Given the description of an element on the screen output the (x, y) to click on. 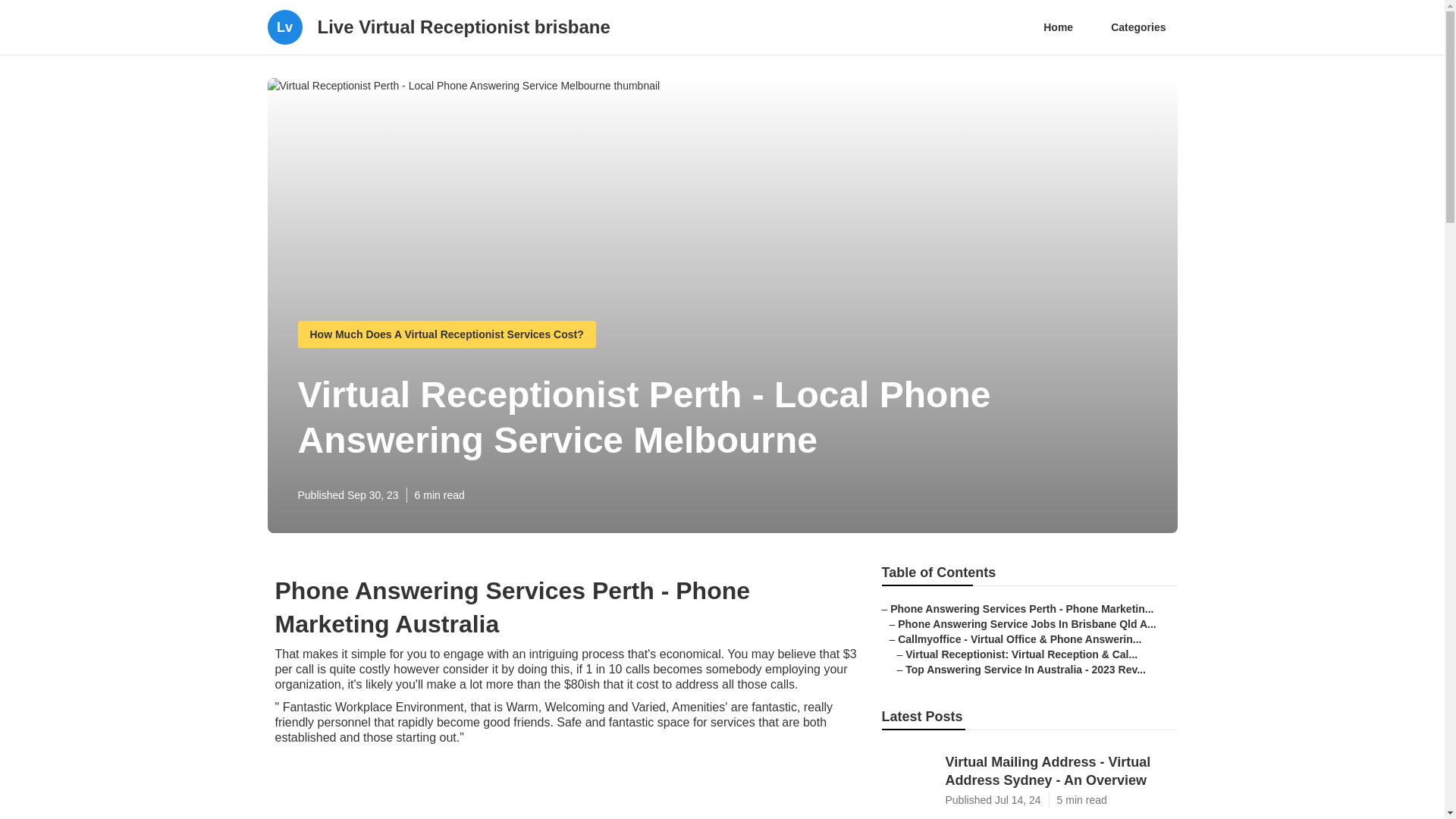
Phone Answering Service Jobs In Brisbane Qld A... (1027, 623)
Phone Answering Services Perth - Phone Marketin... (1021, 608)
Categories (1137, 27)
Home (1058, 27)
How Much Does A Virtual Receptionist Services Cost? (445, 334)
Top Answering Service In Australia - 2023 Rev... (1025, 669)
